Given the description of an element on the screen output the (x, y) to click on. 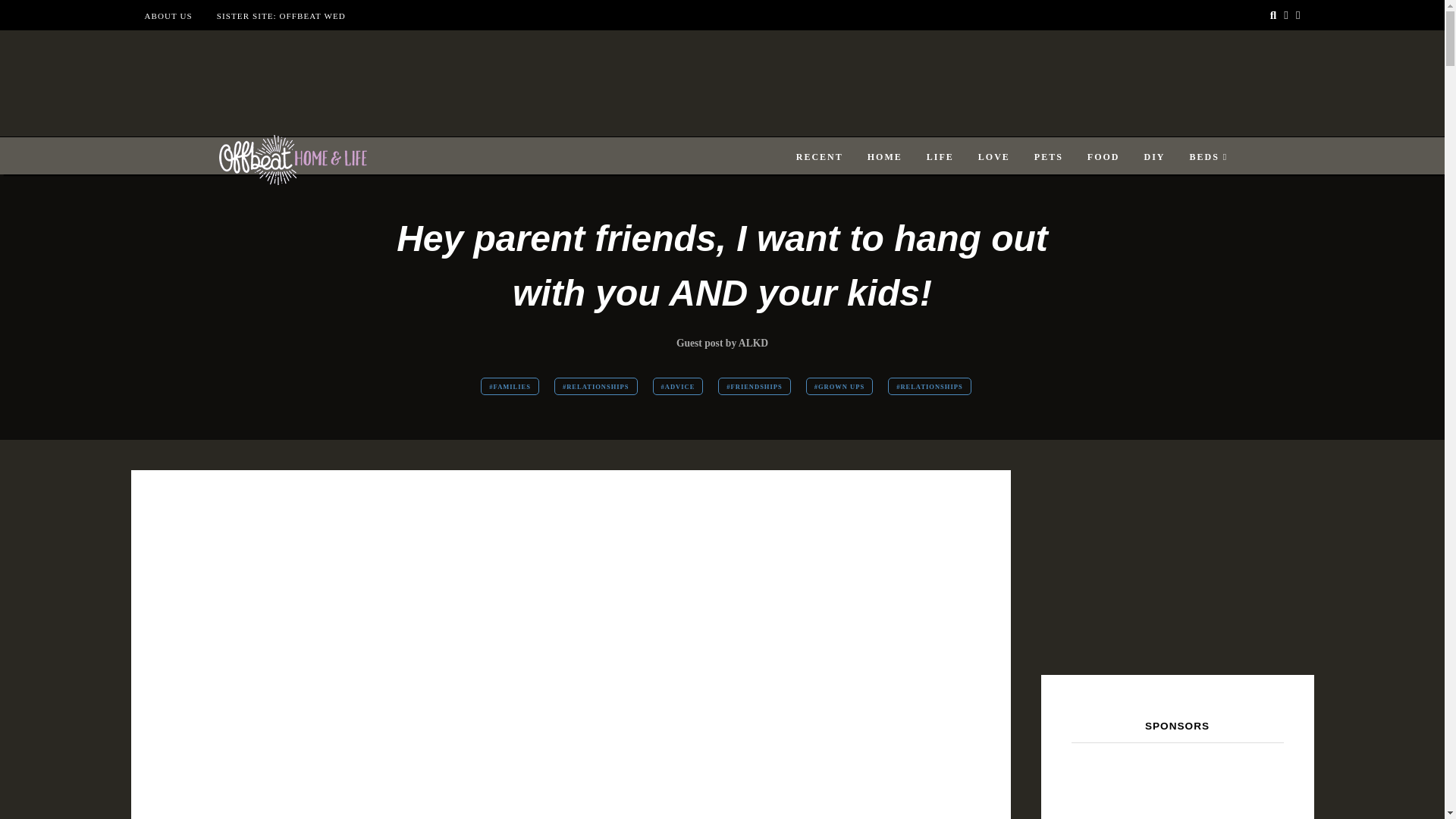
HOME (884, 157)
FOOD (1103, 157)
LOVE (994, 157)
ABOUT US (168, 15)
RECENT (819, 157)
DIY (1153, 157)
SISTER SITE: OFFBEAT WED (281, 15)
LIFE (939, 157)
PETS (1047, 157)
